Given the description of an element on the screen output the (x, y) to click on. 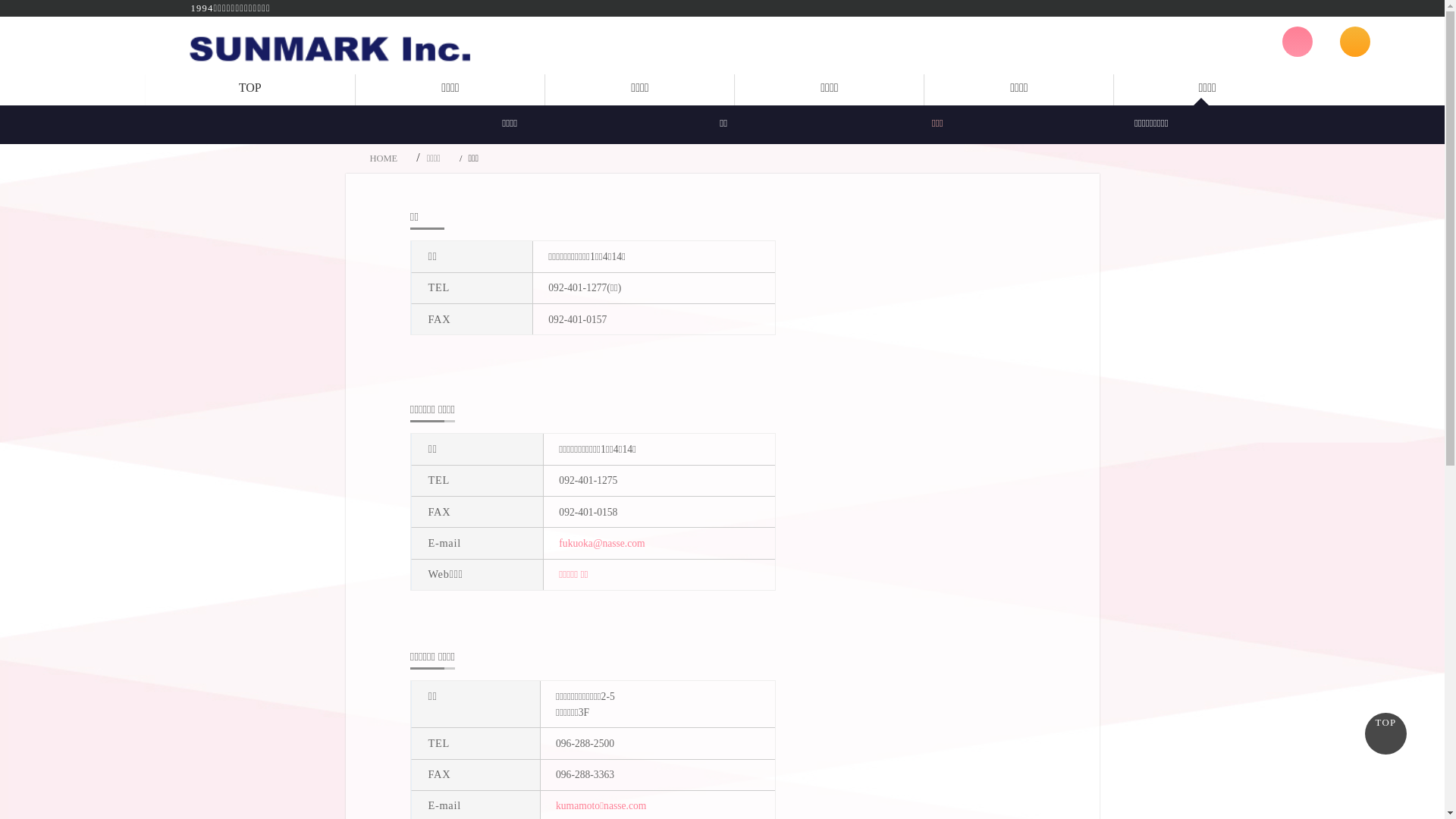
fukuoka@nasse.com Element type: text (601, 543)
TOP Element type: text (250, 90)
HOME Element type: text (384, 158)
TOP Element type: text (1385, 733)
